Given the description of an element on the screen output the (x, y) to click on. 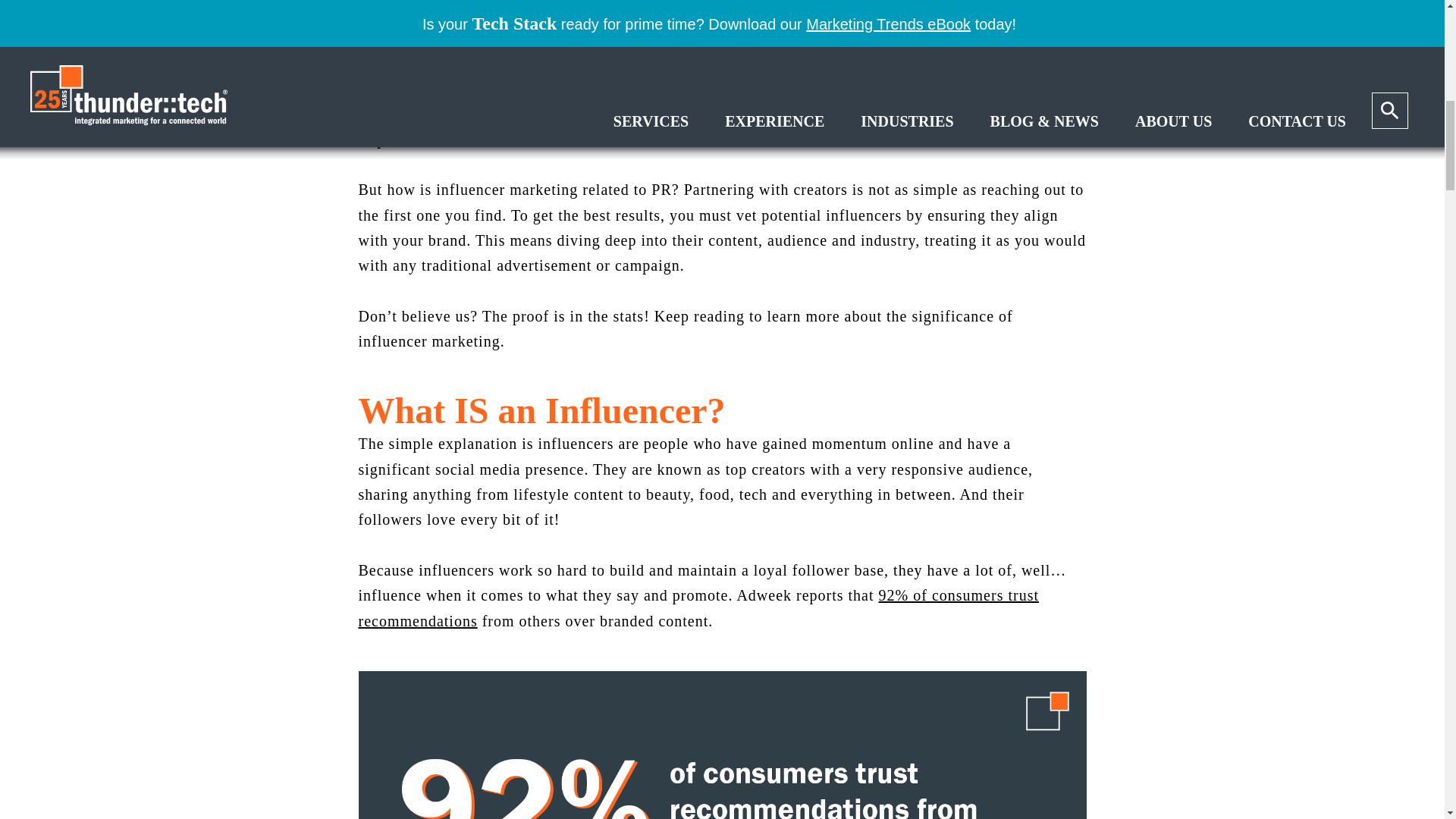
Consumers are searching for relatability and realism (673, 63)
